Given the description of an element on the screen output the (x, y) to click on. 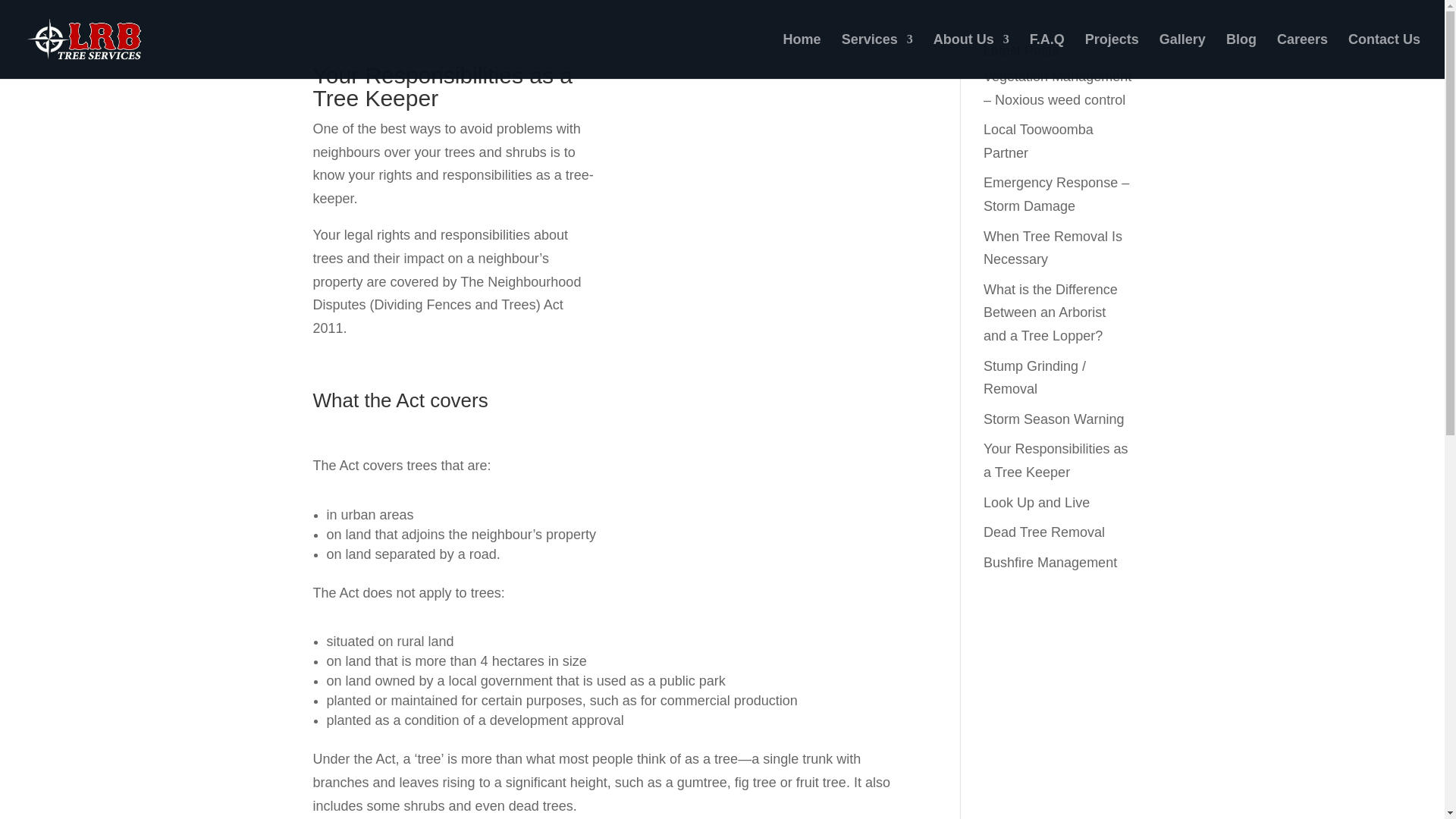
Careers (1301, 56)
Storm Season Warning (1054, 418)
eucalyptus-min (772, 344)
Contact Us (1384, 56)
Your Responsibilities as a Tree Keeper (1055, 460)
When Tree Removal Is Necessary (1053, 248)
Dead Tree Removal (1044, 531)
Look Up and Live (1036, 501)
Gallery (1181, 56)
Services (876, 56)
Bushfire Management (1050, 562)
About Us (971, 56)
Projects (1111, 56)
Local Toowoomba Partner (1038, 141)
